Given the description of an element on the screen output the (x, y) to click on. 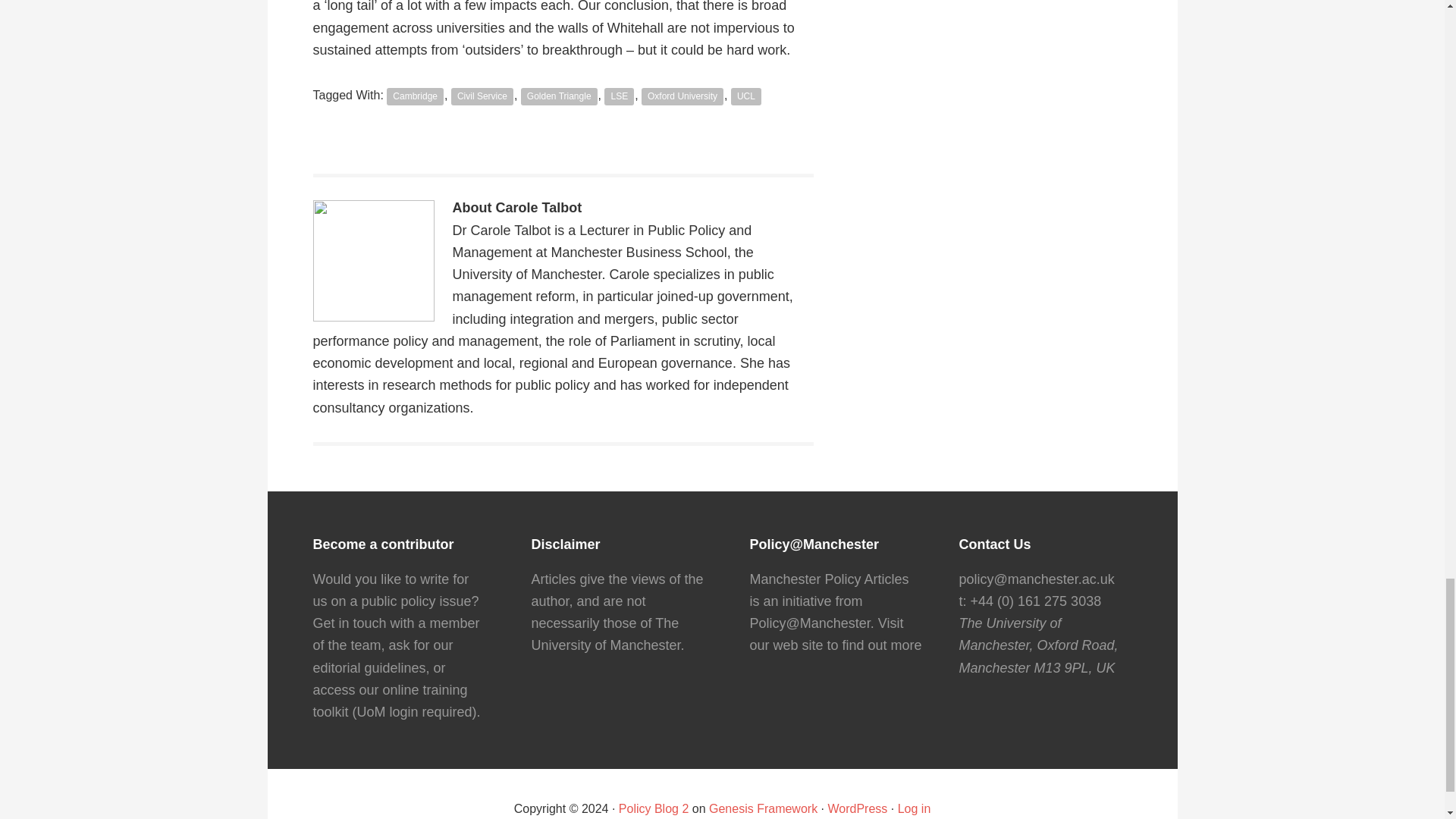
Genesis Framework (762, 808)
Log in (914, 808)
Visit our web site to find out more (835, 633)
Get in touch (349, 622)
UCL (745, 96)
Policy Blog 2 (653, 808)
Oxford University (682, 96)
Golden Triangle (558, 96)
Cambridge (415, 96)
WordPress (858, 808)
